Given the description of an element on the screen output the (x, y) to click on. 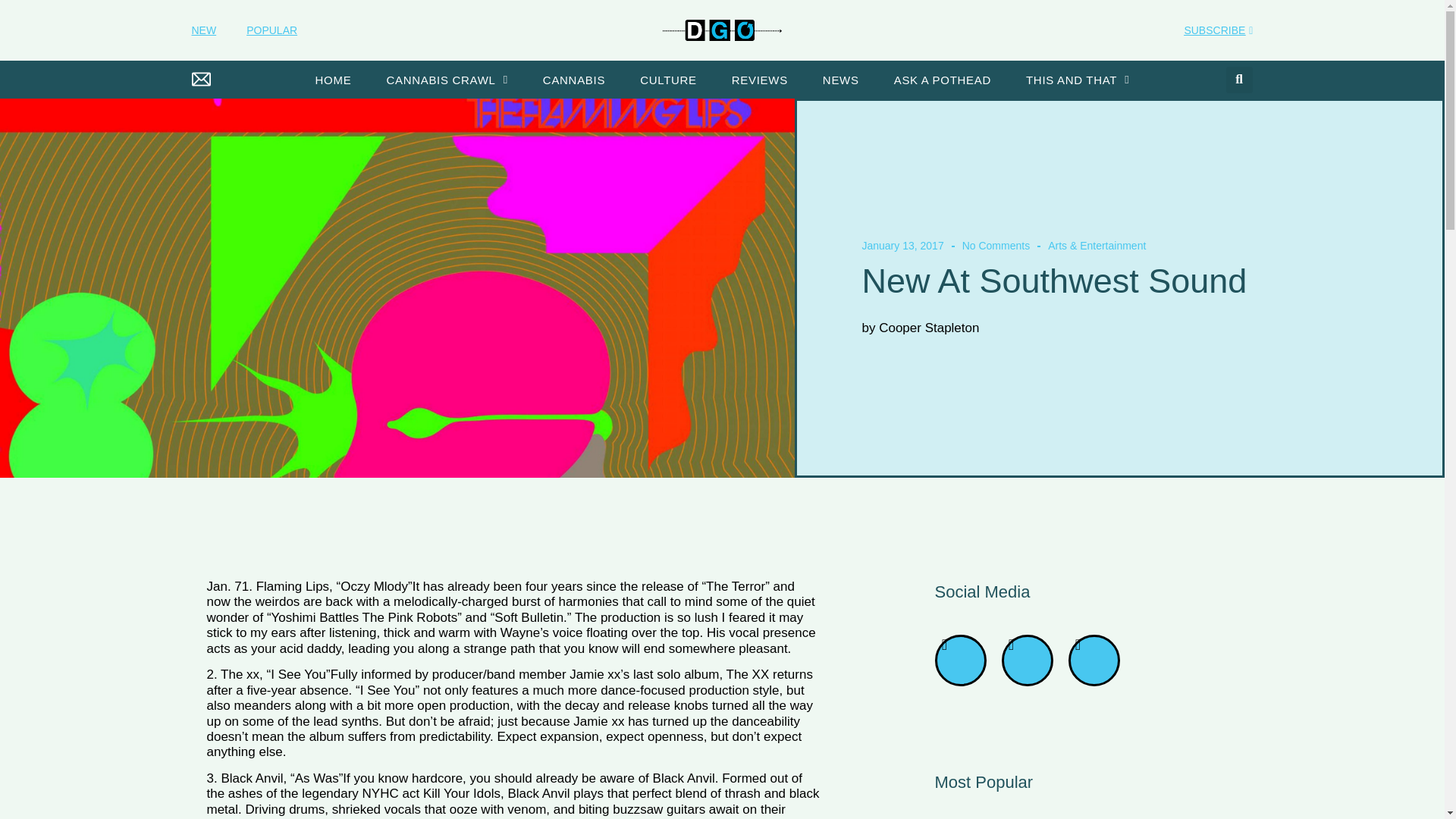
THIS AND THAT (1076, 79)
ASK A POTHEAD (942, 79)
NEWS (840, 79)
REVIEWS (759, 79)
CANNABIS CRAWL (446, 79)
CANNABIS (573, 79)
NEW (202, 30)
POPULAR (271, 30)
CULTURE (668, 79)
SUBSCRIBE (1217, 31)
HOME (333, 79)
